Given the description of an element on the screen output the (x, y) to click on. 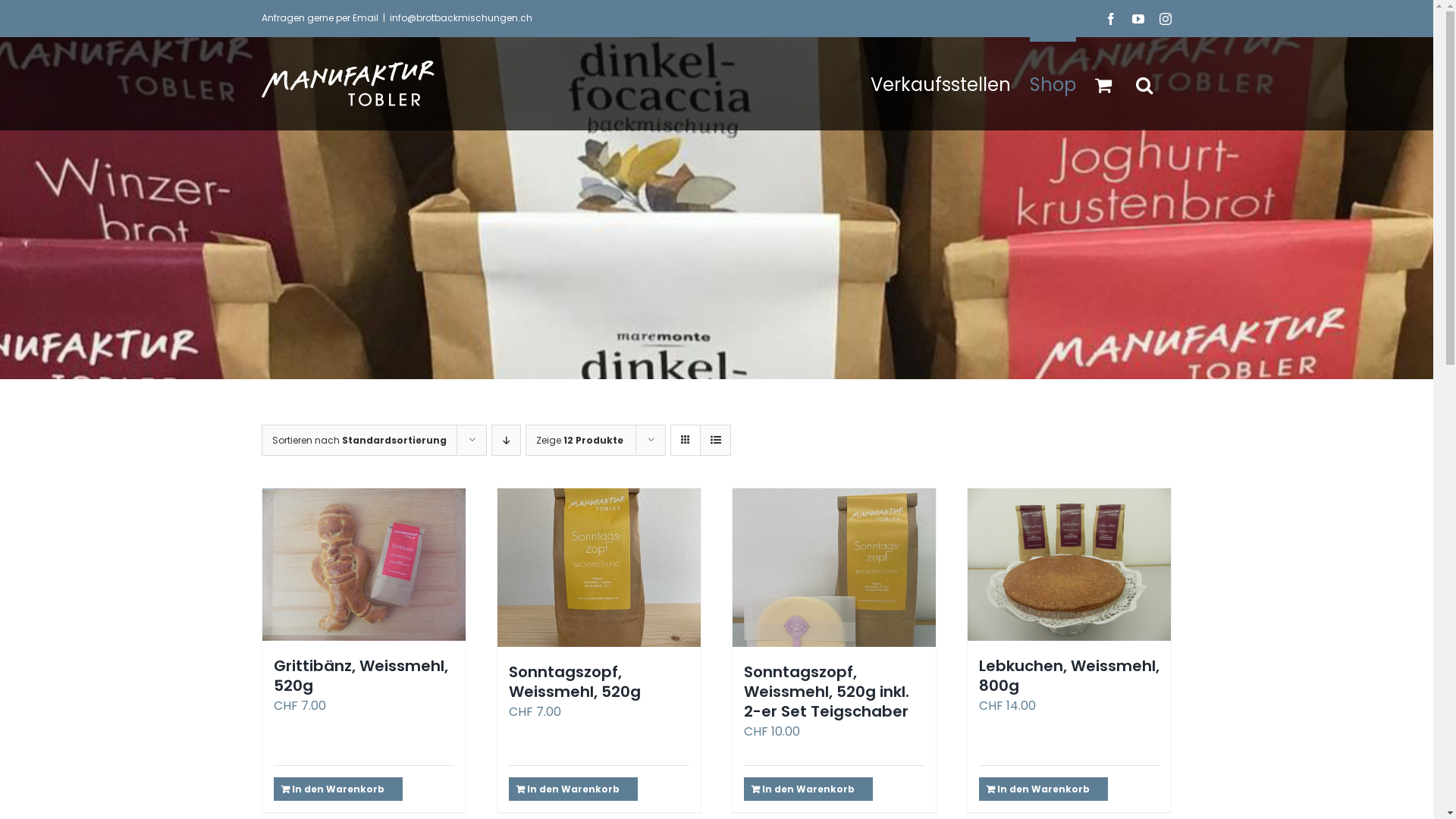
In den Warenkorb Element type: text (807, 788)
Sonntagszopf, Weissmehl, 520g inkl. 2-er Set Teigschaber Element type: text (826, 691)
In den Warenkorb Element type: text (337, 788)
Sonntagszopf, Weissmehl, 520g Element type: text (574, 681)
Sortieren nach Standardsortierung Element type: text (359, 439)
Shop Element type: text (1052, 82)
In den Warenkorb Element type: text (1043, 788)
Suche Element type: hover (1143, 82)
Zeige 12 Produkte Element type: text (579, 439)
Instagram Element type: text (1165, 18)
YouTube Element type: text (1138, 18)
Lebkuchen, Weissmehl, 800g Element type: text (1069, 675)
Facebook Element type: text (1110, 18)
Verkaufsstellen Element type: text (940, 82)
info@brotbackmischungen.ch Element type: text (460, 17)
In den Warenkorb Element type: text (572, 788)
